Given the description of an element on the screen output the (x, y) to click on. 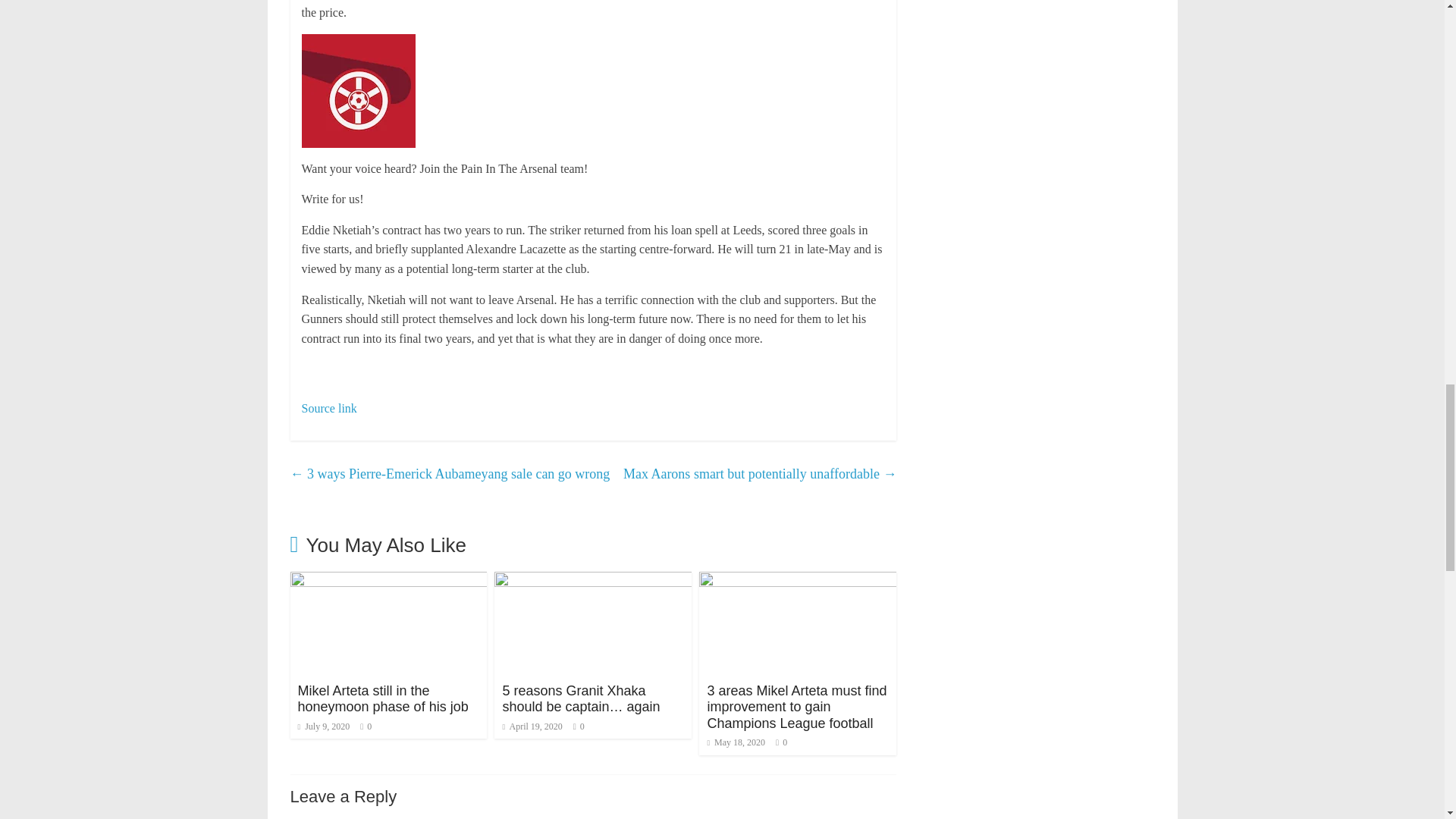
Mikel Arteta still in the honeymoon phase of his job (387, 581)
July 9, 2020 (323, 726)
1:17 pm (323, 726)
May 18, 2020 (735, 742)
April 19, 2020 (532, 726)
Mikel Arteta still in the honeymoon phase of his job (382, 698)
Source link (328, 408)
Mikel Arteta still in the honeymoon phase of his job (382, 698)
